Given the description of an element on the screen output the (x, y) to click on. 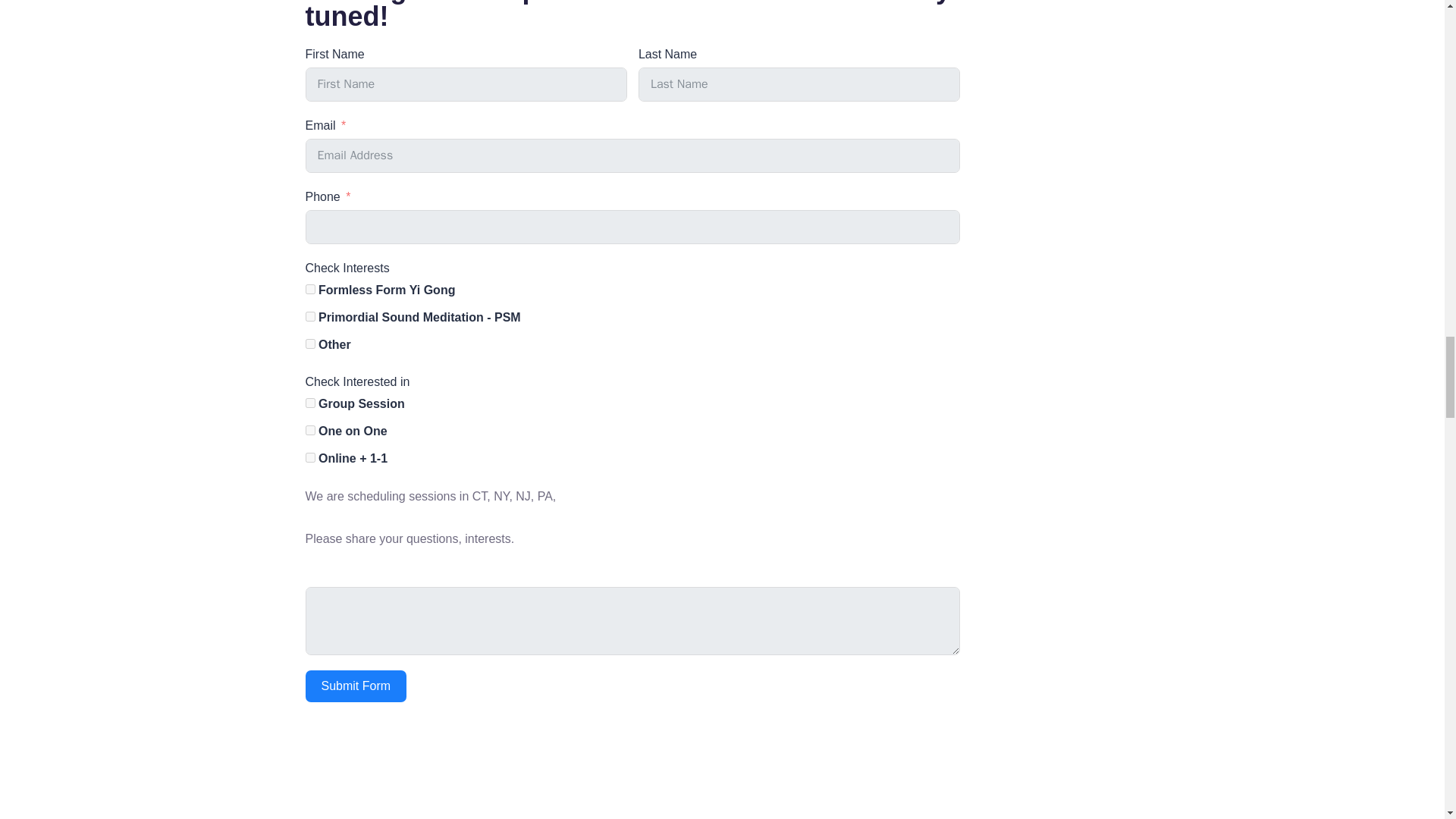
Formless Form Yi Gong (309, 289)
Group Session (309, 402)
Other (309, 343)
Primordial Sound Meditation 2 (632, 775)
Primordial Sound Meditation - PSM (309, 316)
One on One (309, 429)
Submit Form (355, 685)
